Given the description of an element on the screen output the (x, y) to click on. 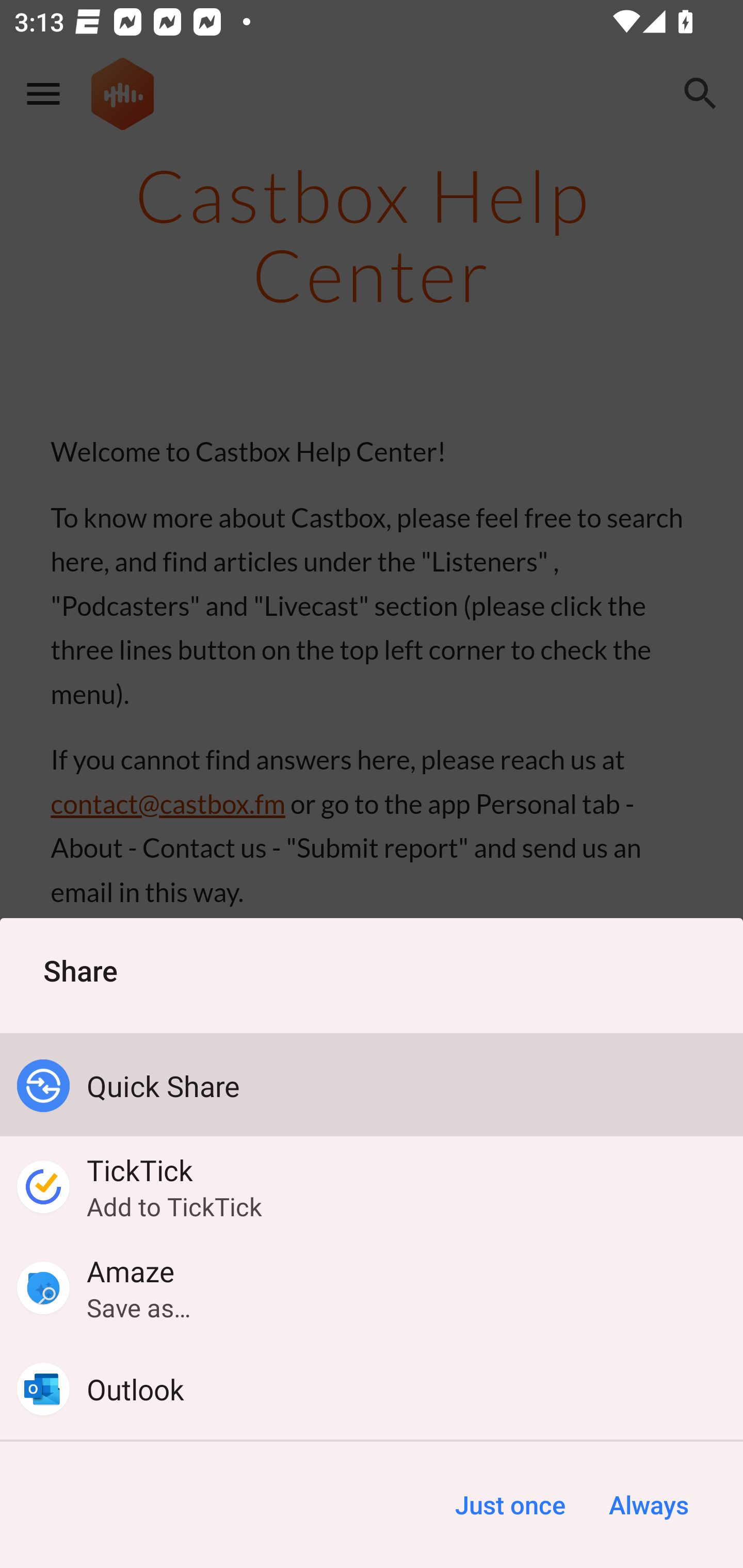
Quick Share (371, 1085)
TickTick Add to TickTick (371, 1186)
Amaze Save as… (371, 1288)
Outlook (371, 1389)
Just once (509, 1504)
Always (648, 1504)
